Given the description of an element on the screen output the (x, y) to click on. 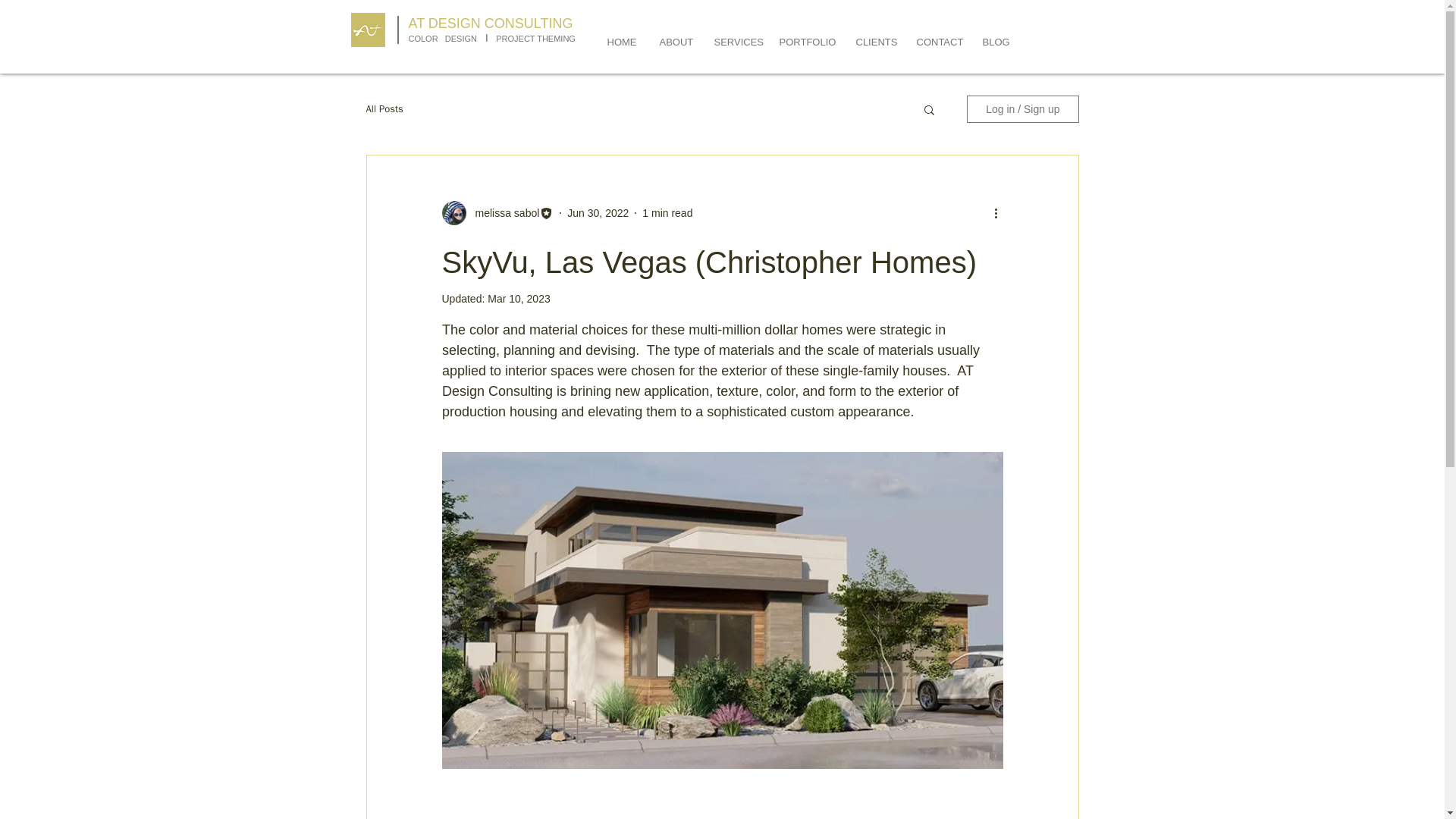
1 min read (667, 212)
Jun 30, 2022 (597, 212)
Mar 10, 2023 (518, 298)
HOME (621, 42)
CONTACT (938, 42)
ABOUT (674, 42)
AT DESIGN CONSULTING (489, 23)
PORTFOLIO (805, 42)
BLOG (995, 42)
All Posts (384, 109)
SERVICES (734, 42)
melissa sabol (501, 212)
COLOR   DESIGN   I  PROJECT THEMING (491, 38)
CLIENTS (874, 42)
